Given the description of an element on the screen output the (x, y) to click on. 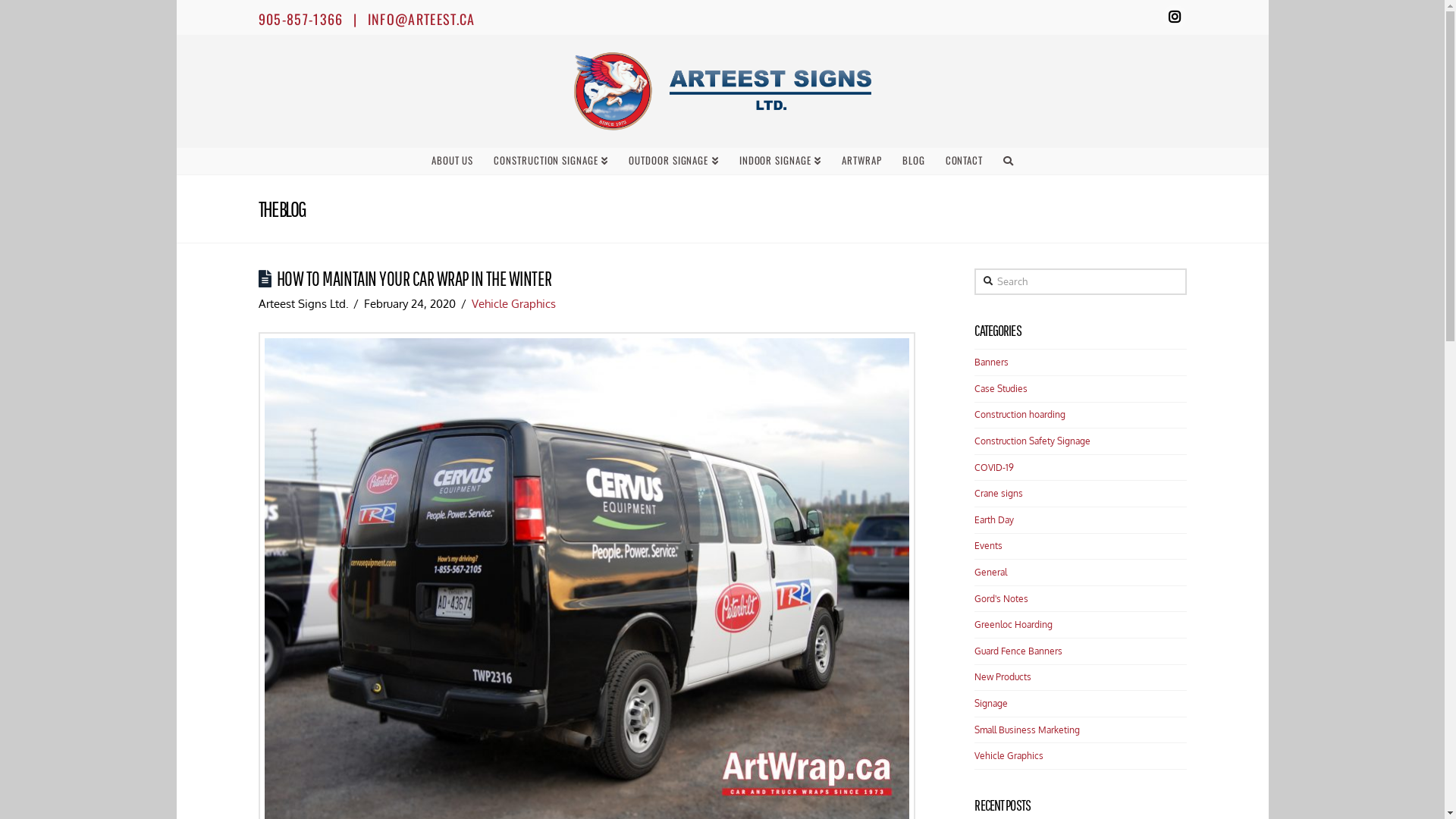
ABOUT US Element type: text (451, 160)
General Element type: text (990, 572)
Signage Element type: text (990, 703)
Vehicle Graphics Element type: text (513, 303)
Vehicle Graphics Element type: text (1008, 755)
Construction hoarding Element type: text (1019, 414)
Crane signs Element type: text (998, 493)
BLOG Element type: text (913, 160)
Construction Safety Signage Element type: text (1032, 441)
CONTACT Element type: text (964, 160)
Small Business Marketing Element type: text (1026, 730)
CONSTRUCTION SIGNAGE Element type: text (550, 160)
Gord's Notes Element type: text (1001, 598)
Guard Fence Banners Element type: text (1018, 651)
ARTWRAP Element type: text (861, 160)
INFO@ARTEEST.CA Element type: text (421, 18)
Greenloc Hoarding Element type: text (1013, 624)
New Products Element type: text (1002, 677)
Instagram Element type: hover (1173, 16)
905-857-1366 Element type: text (299, 18)
Events Element type: text (988, 545)
COVID-19 Element type: text (993, 467)
INDOOR SIGNAGE Element type: text (779, 160)
OUTDOOR SIGNAGE Element type: text (673, 160)
Case Studies Element type: text (1000, 388)
Banners Element type: text (991, 362)
Earth Day Element type: text (993, 520)
